Given the description of an element on the screen output the (x, y) to click on. 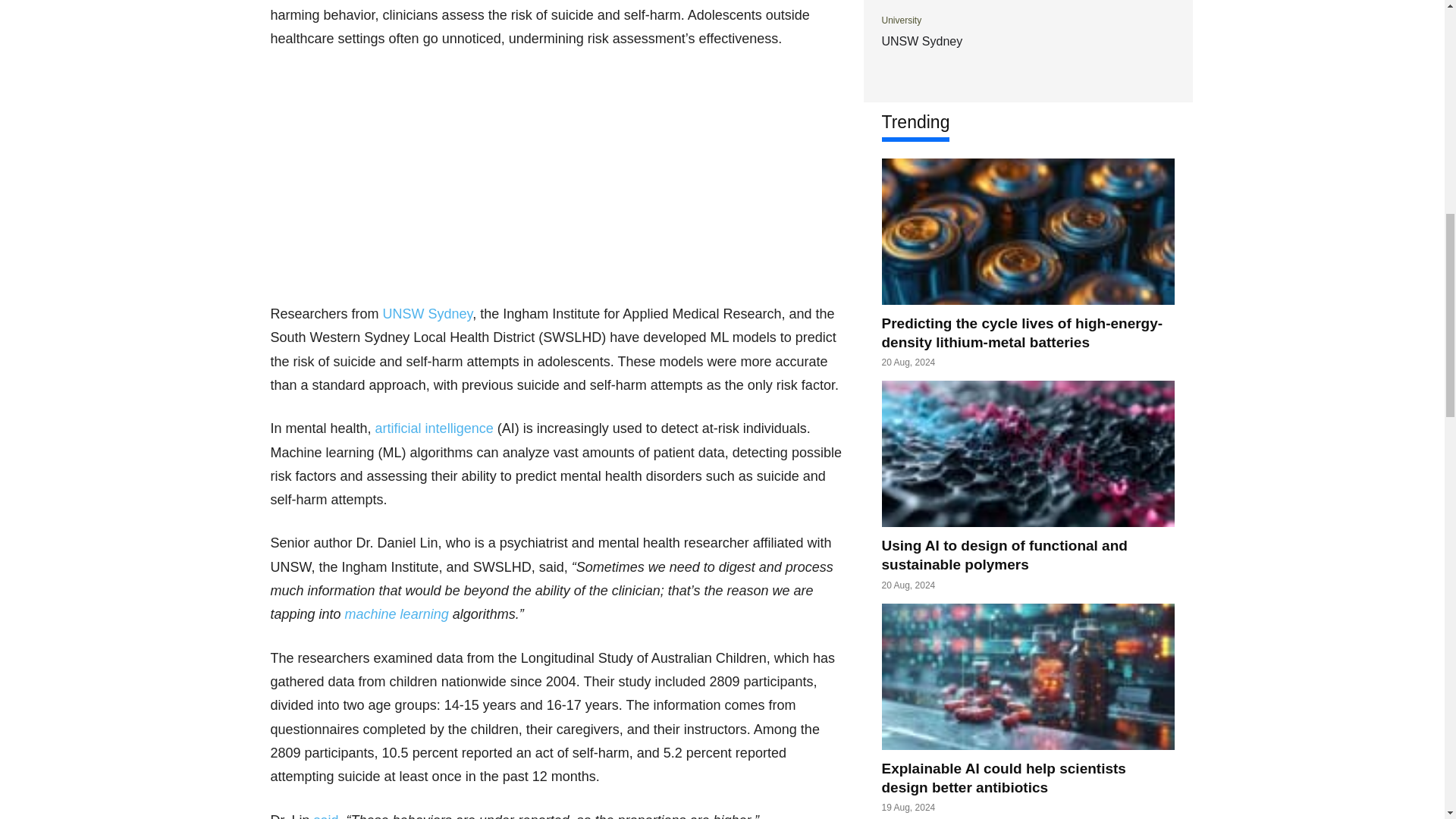
UNSW Sydney (427, 313)
artificial intelligence (434, 427)
